Given the description of an element on the screen output the (x, y) to click on. 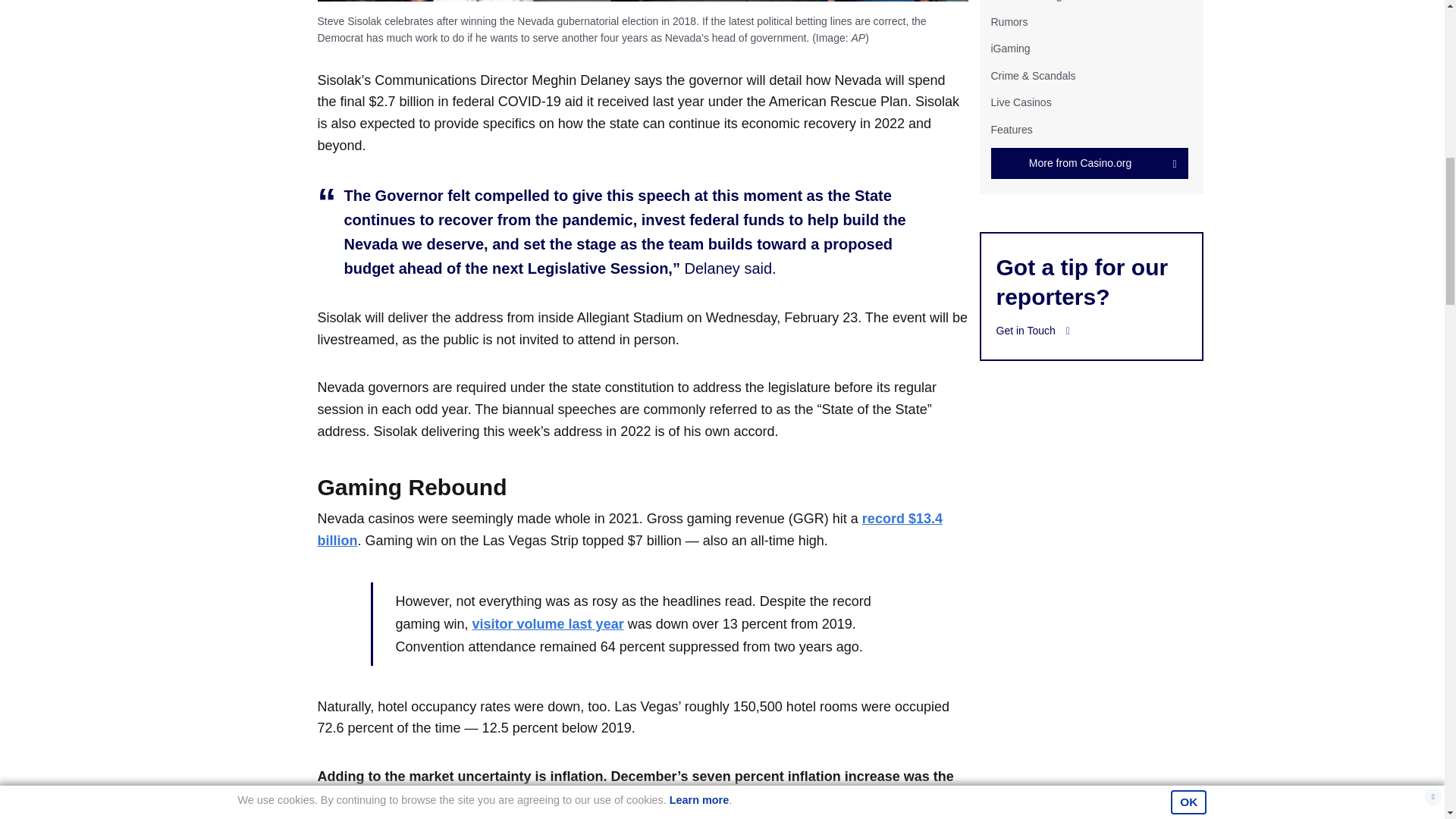
Rumors (1008, 21)
iGaming (1009, 48)
Live Casinos (1020, 102)
Features (1011, 128)
visitor volume last year (547, 623)
Mobile Gaming (1025, 0)
